Given the description of an element on the screen output the (x, y) to click on. 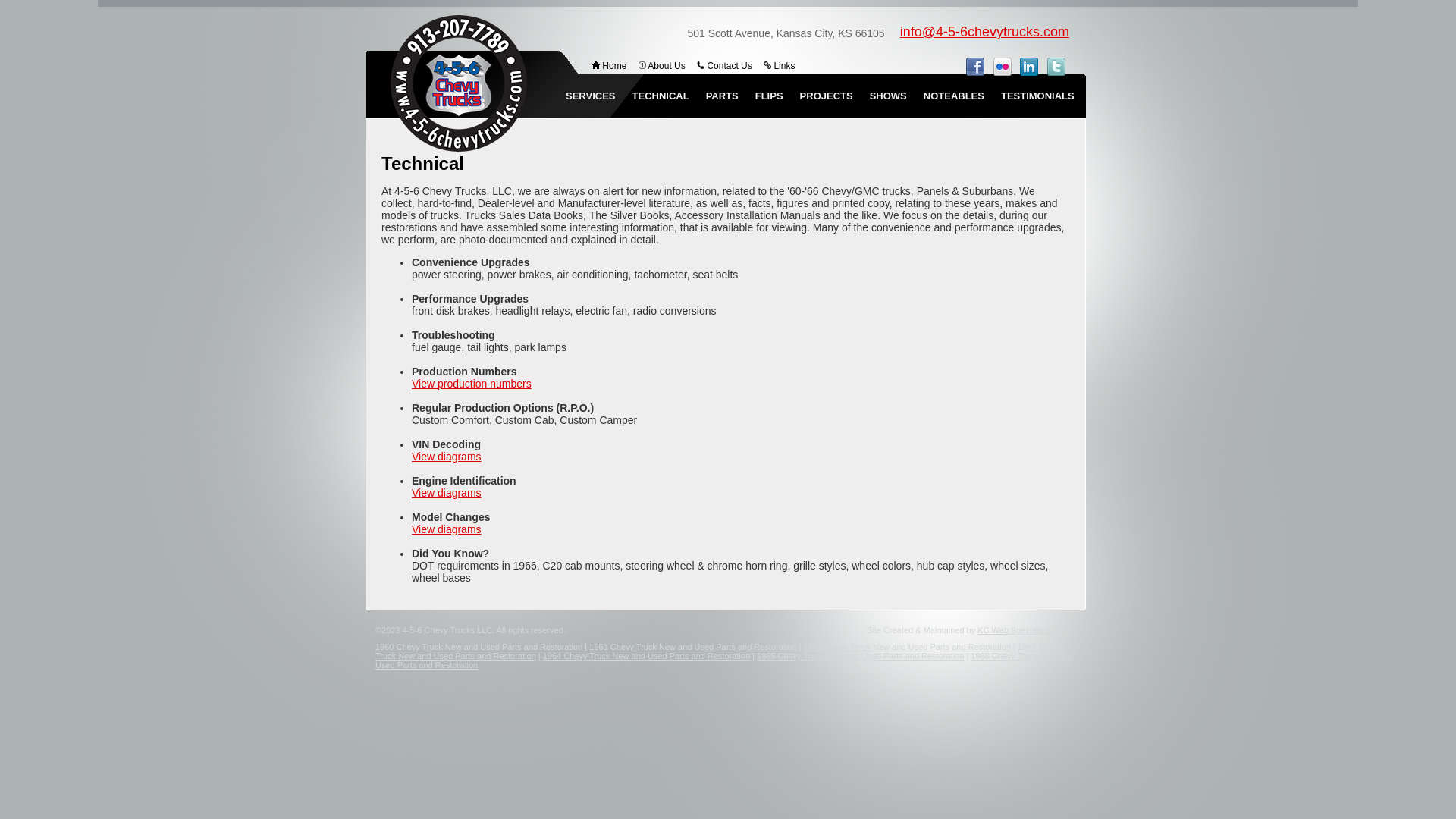
KC Web Specialists, LLC. Element type: text (1025, 629)
info@4-5-6chevytrucks.com Element type: text (984, 31)
View diagrams Element type: text (446, 456)
View production numbers Element type: text (471, 383)
About Us Element type: text (661, 65)
1966 Chevy Truck New and Used Parts and Restoration Element type: text (724, 660)
View diagrams Element type: text (446, 529)
TESTIMONIALS Element type: text (1037, 96)
1964 Chevy Truck New and Used Parts and Restoration Element type: text (645, 655)
View diagrams Element type: text (446, 492)
1960 Chevy Truck New and Used Parts and Restoration Element type: text (478, 646)
PARTS Element type: text (722, 96)
Contact Us Element type: text (724, 65)
PROJECTS Element type: text (826, 96)
TECHNICAL Element type: text (660, 96)
1963 Chevy Truck New and Used Parts and Restoration Element type: text (718, 651)
SHOWS Element type: text (887, 96)
NOTEABLES Element type: text (953, 96)
Links Element type: text (778, 65)
FLIPS Element type: text (769, 96)
1965 Chevy Truck New and Used Parts and Restoration Element type: text (859, 655)
1961 Chevy Truck New and Used Parts and Restoration Element type: text (692, 646)
SERVICES Element type: text (590, 96)
Home Element type: text (609, 65)
1962 Chevy Truck New and Used Parts and Restoration Element type: text (906, 646)
